Given the description of an element on the screen output the (x, y) to click on. 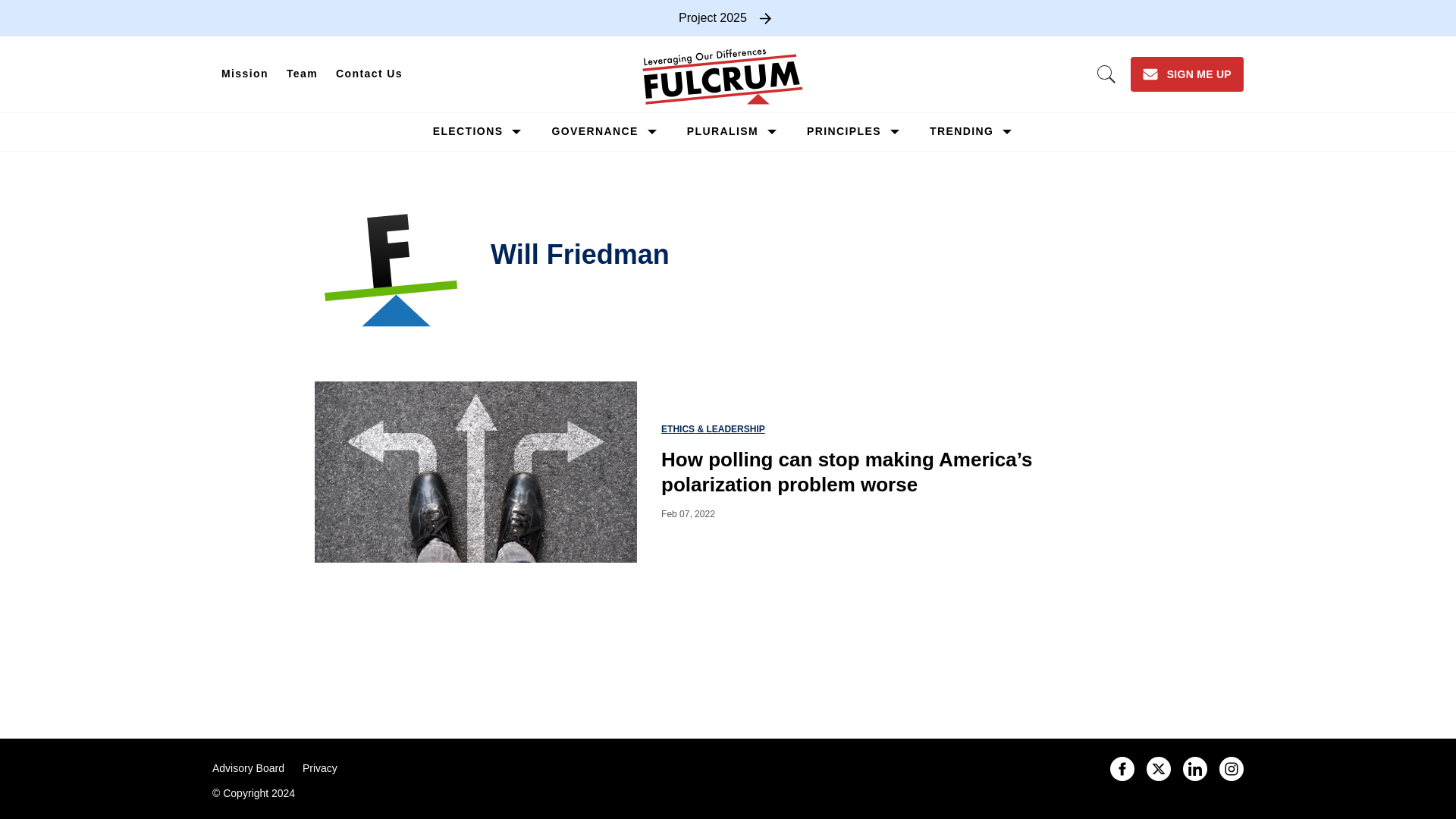
ELECTIONS (467, 131)
Open Search (1106, 74)
Contact Us (369, 73)
Open Search (1106, 74)
GOVERNANCE (594, 131)
SIGN ME UP (1187, 73)
Mission (245, 73)
Team (302, 73)
